Given the description of an element on the screen output the (x, y) to click on. 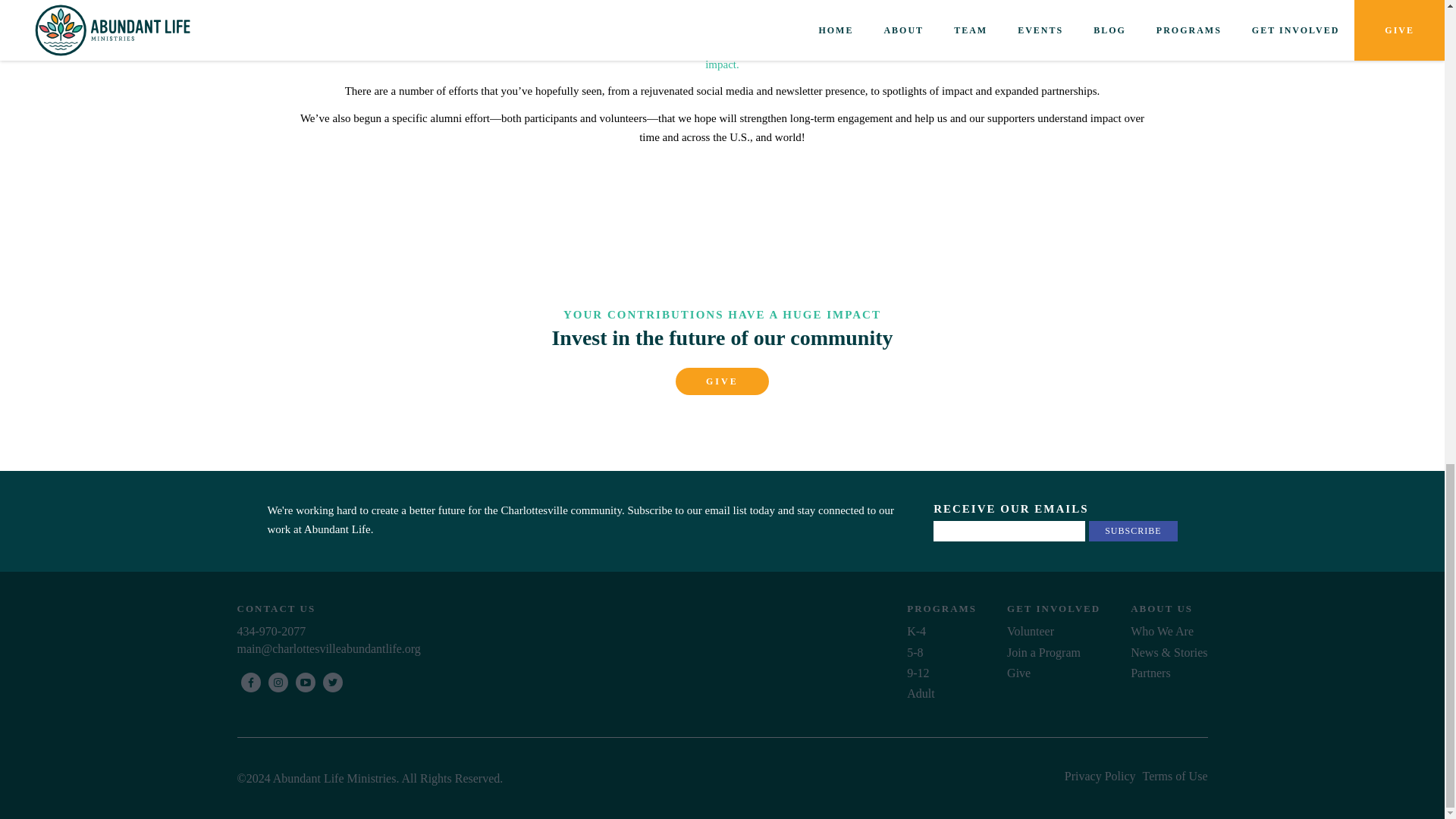
Subscribe (1132, 530)
434-970-2077 (571, 631)
Subscribe (1132, 530)
GIVE (721, 380)
K-4 (916, 631)
5-8 (915, 652)
